Given the description of an element on the screen output the (x, y) to click on. 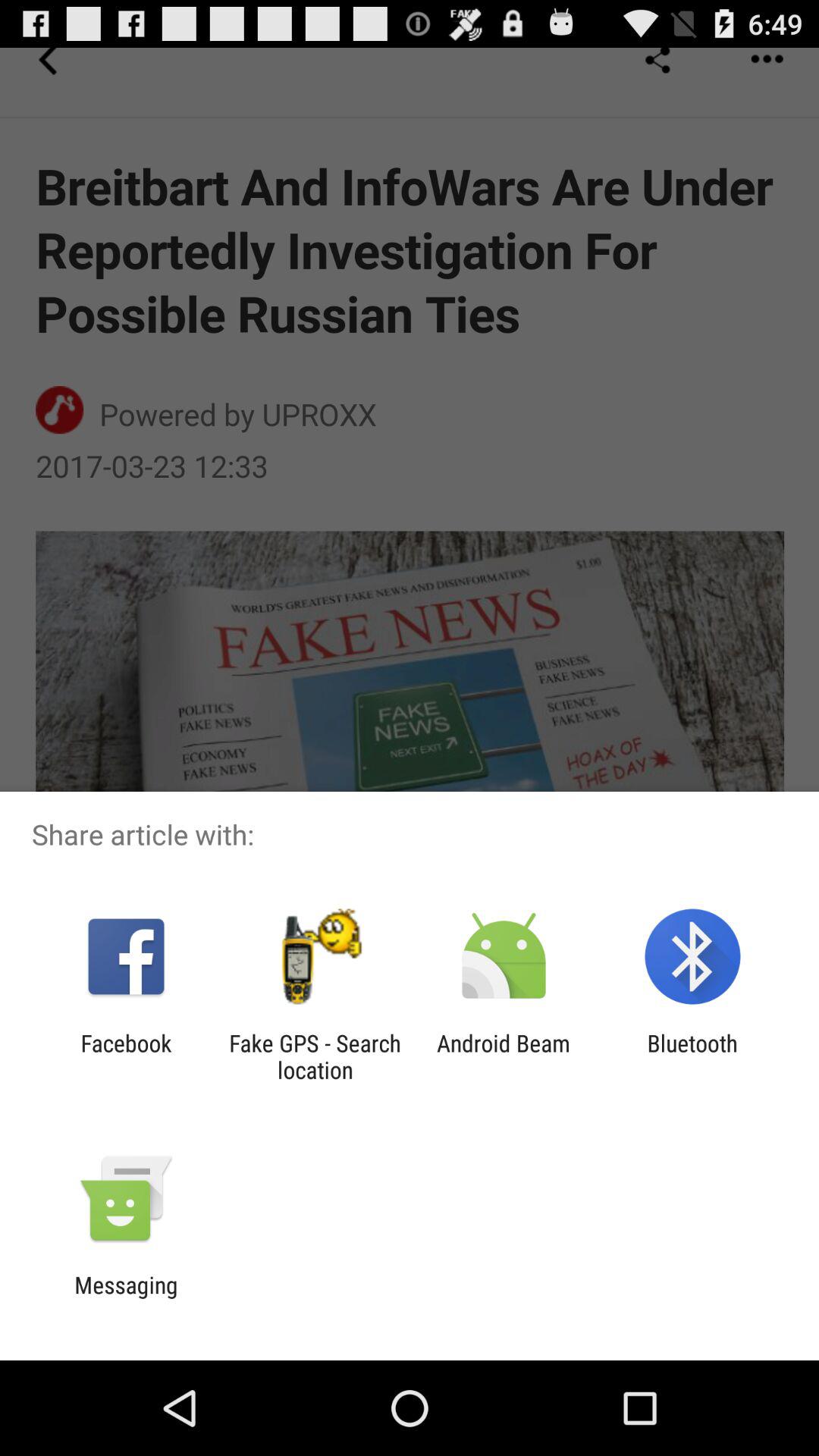
click the facebook item (125, 1056)
